Given the description of an element on the screen output the (x, y) to click on. 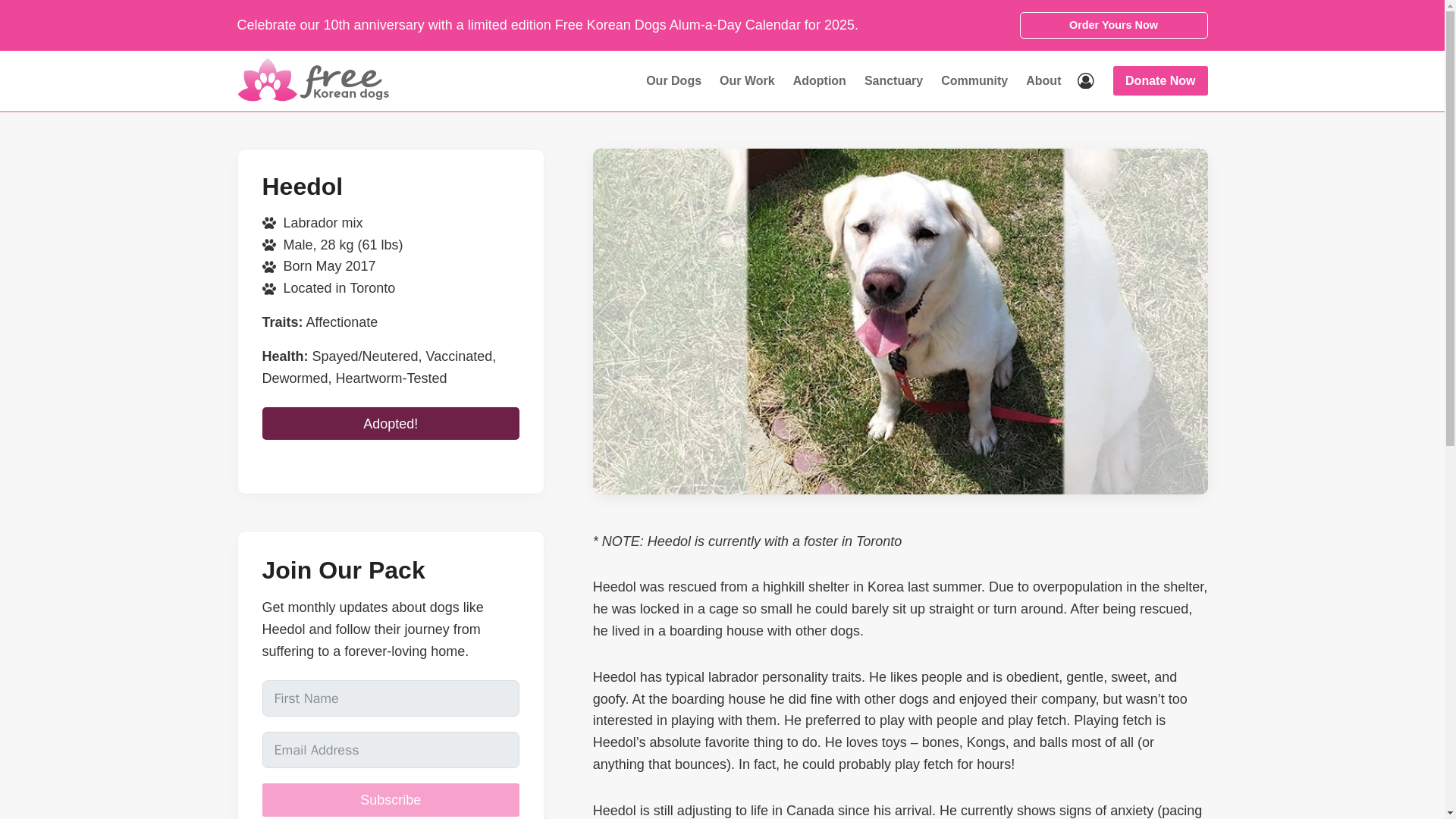
Order Yours Now (1113, 25)
Our Work (747, 80)
Our Dogs (673, 80)
Subscribe (390, 798)
Adoption (820, 80)
Community (973, 80)
About (1043, 80)
Donate Now (1160, 80)
Sanctuary (893, 80)
